Given the description of an element on the screen output the (x, y) to click on. 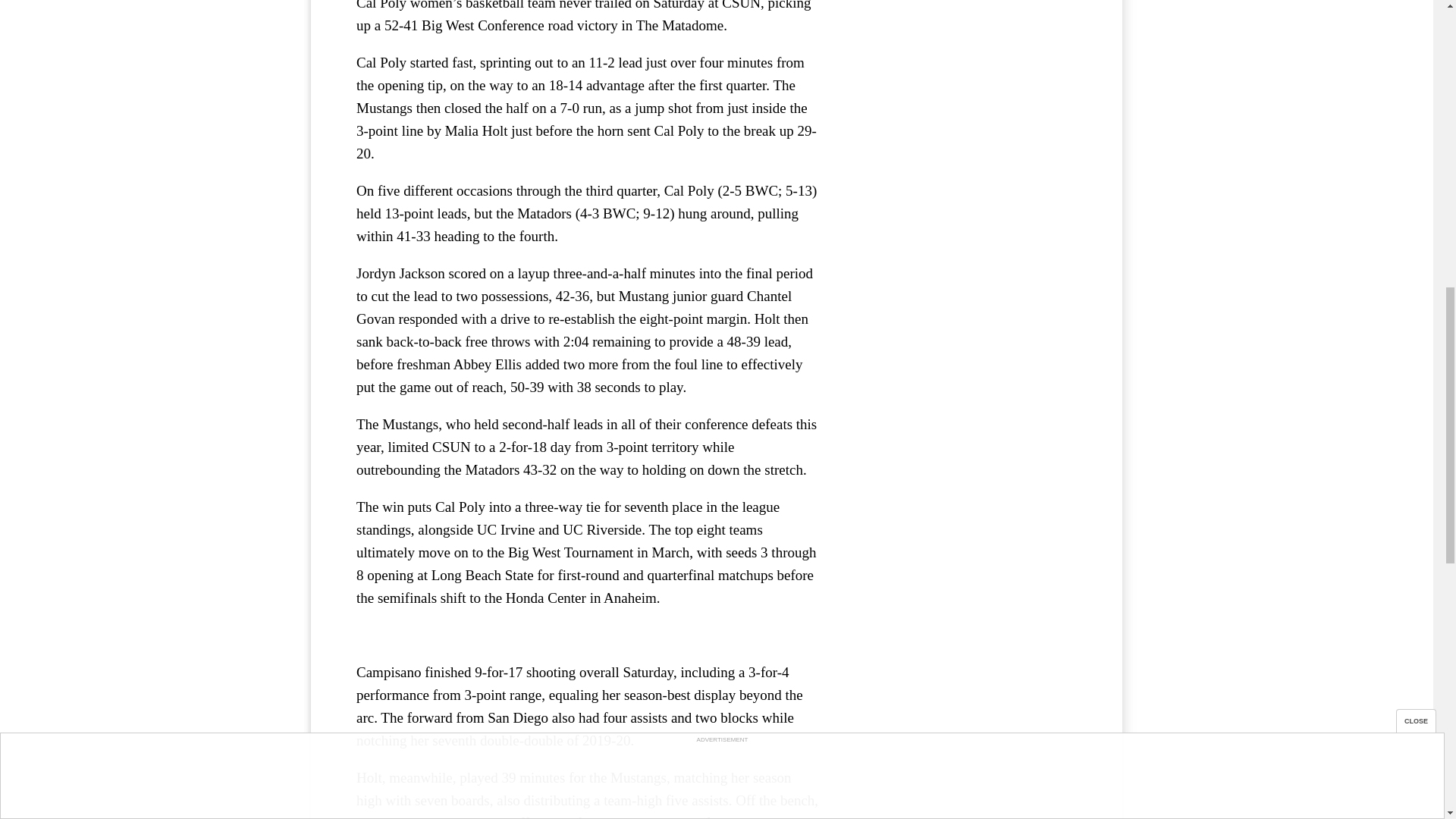
3rd party ad content (962, 108)
